Given the description of an element on the screen output the (x, y) to click on. 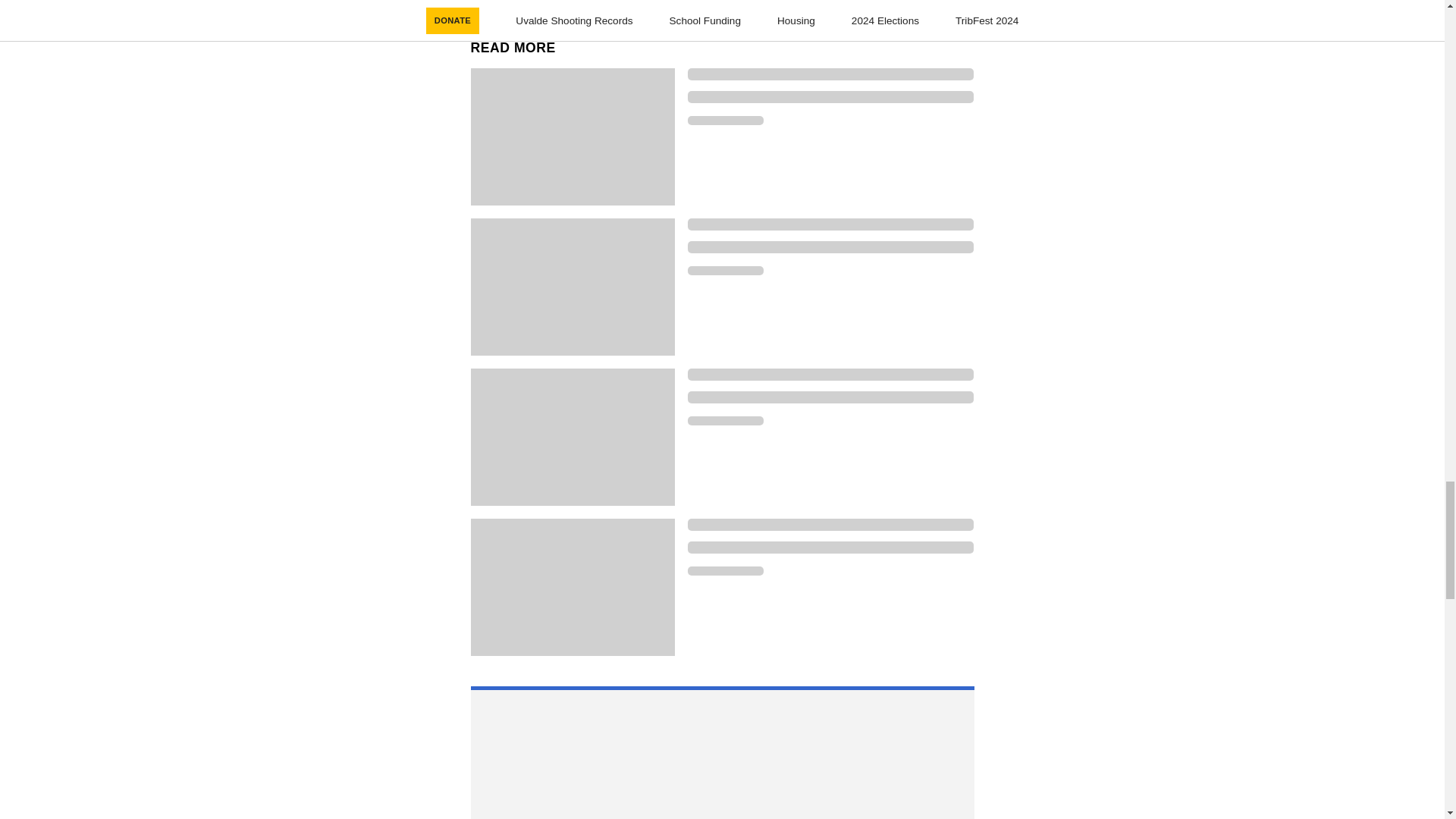
Loading indicator (830, 524)
Loading indicator (830, 96)
Loading indicator (830, 224)
Loading indicator (830, 547)
Loading indicator (830, 246)
Loading indicator (724, 570)
Loading indicator (830, 374)
Loading indicator (724, 420)
Loading indicator (830, 397)
Loading indicator (724, 120)
